Given the description of an element on the screen output the (x, y) to click on. 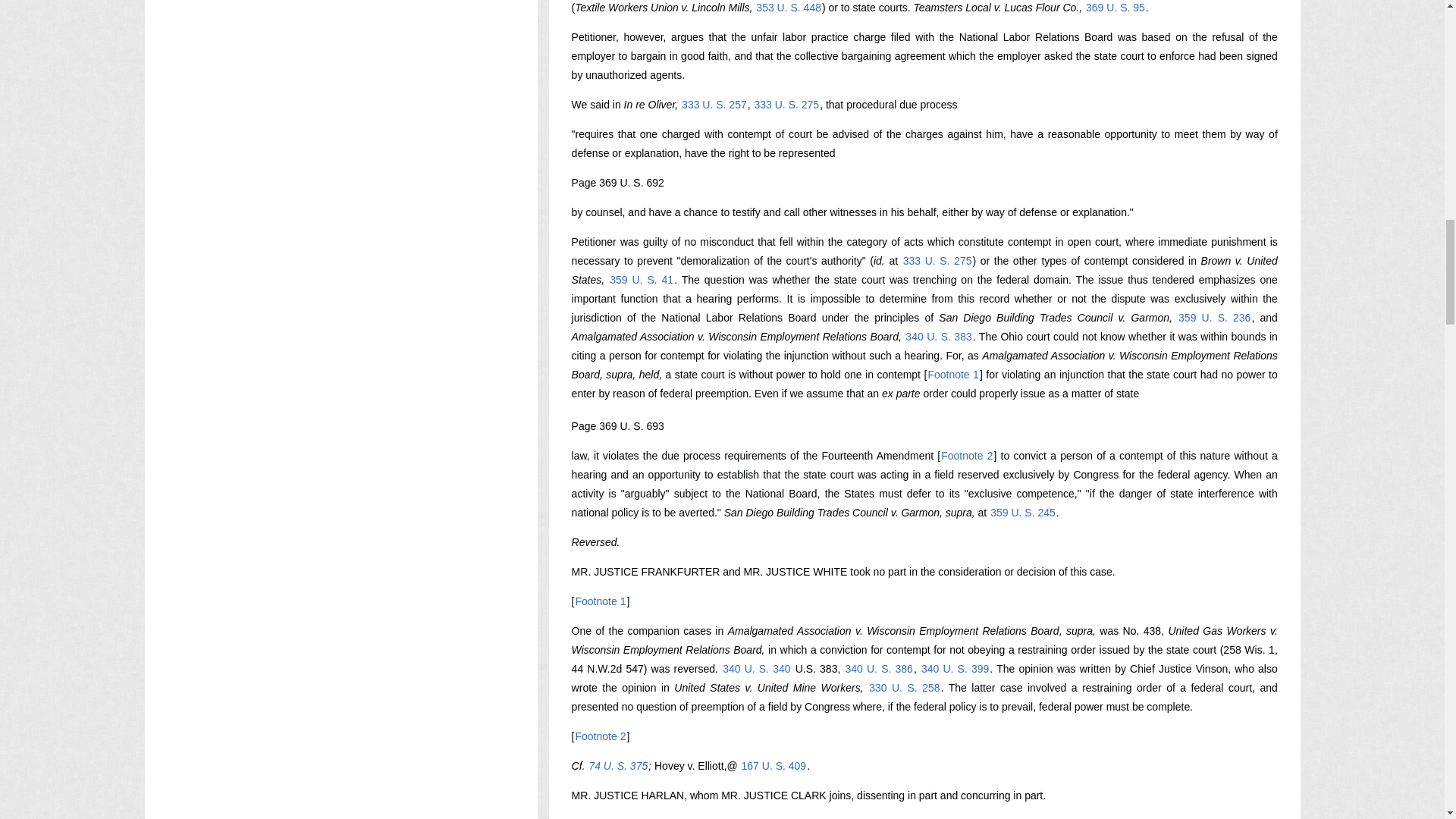
333 U. S. 275 (787, 104)
340 U. S. 399 (955, 668)
Page 369 U. S. 692 (617, 182)
Footnote 2 (601, 736)
359 U. S. 245 (1023, 512)
333 U. S. 275 (937, 260)
74 U. S. 375 (617, 766)
369 U. S. 95 (1114, 7)
Page 369 U. S. 693 (617, 426)
333 U. S. 257 (714, 104)
